Given the description of an element on the screen output the (x, y) to click on. 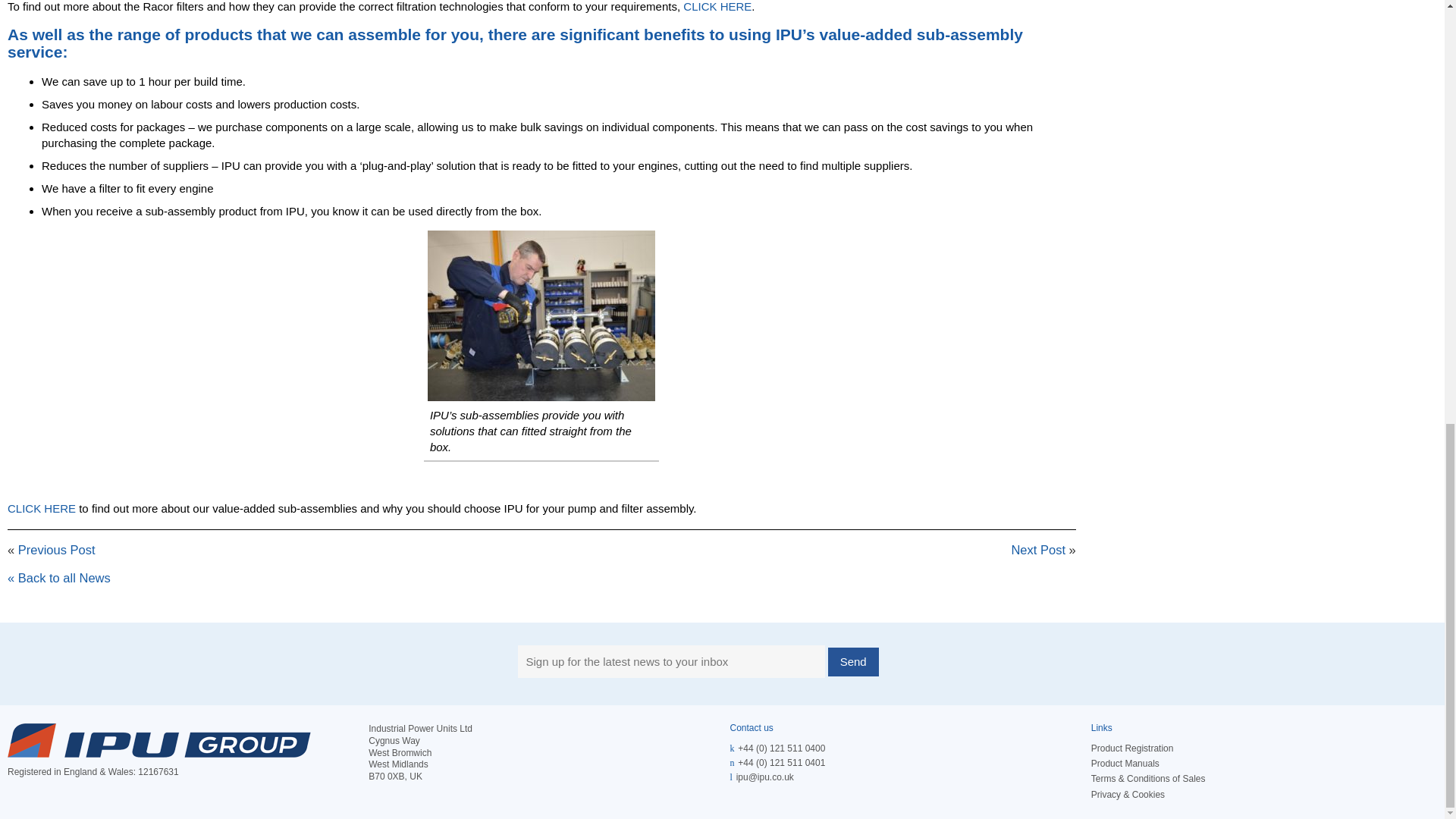
Email (764, 777)
Send (853, 661)
Call us (781, 747)
Back to all News (58, 577)
IPU Group (159, 740)
